Given the description of an element on the screen output the (x, y) to click on. 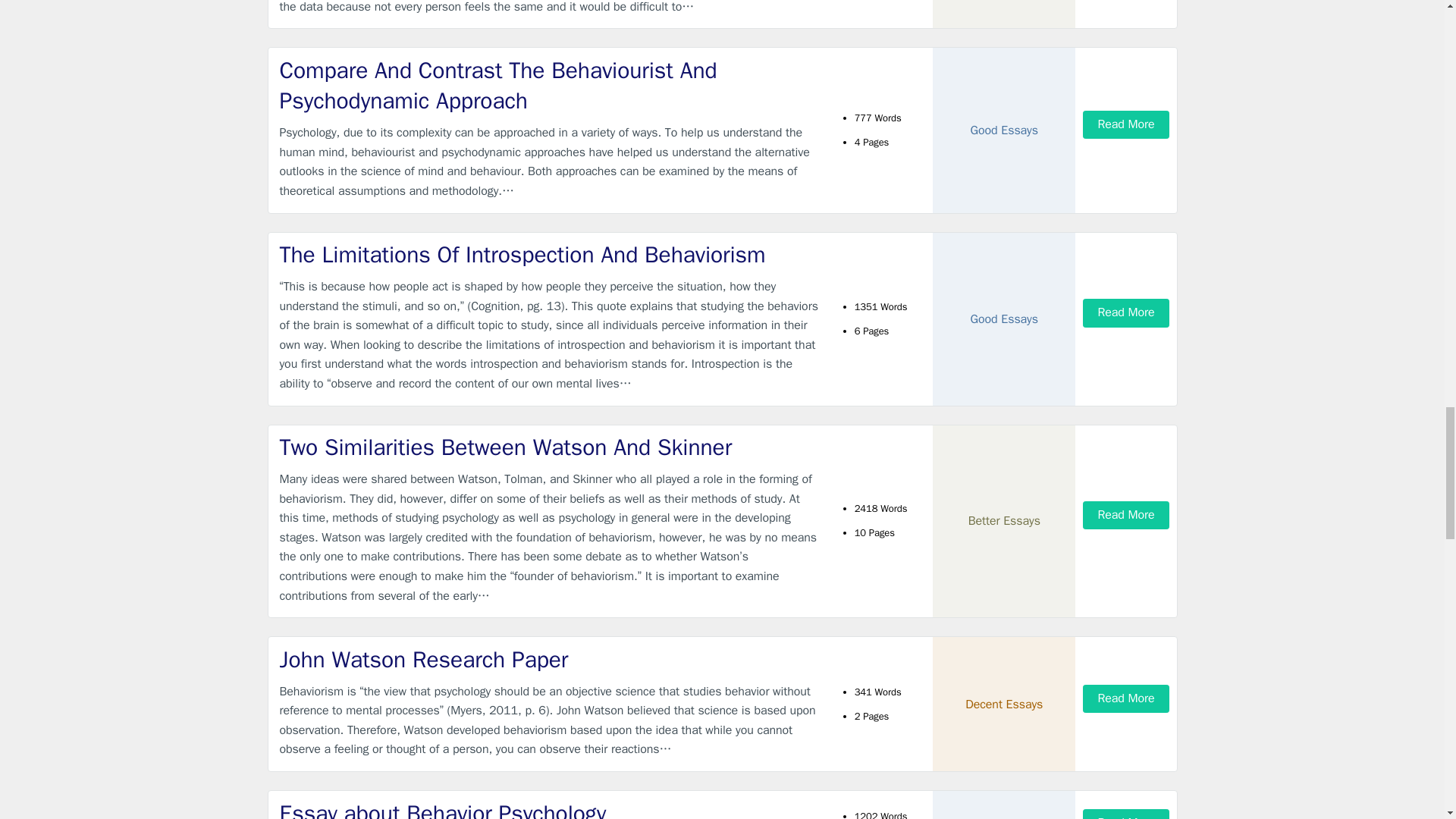
Read More (1126, 312)
Read More (1126, 124)
Two Similarities Between Watson And Skinner (548, 447)
The Limitations Of Introspection And Behaviorism (548, 255)
